Given the description of an element on the screen output the (x, y) to click on. 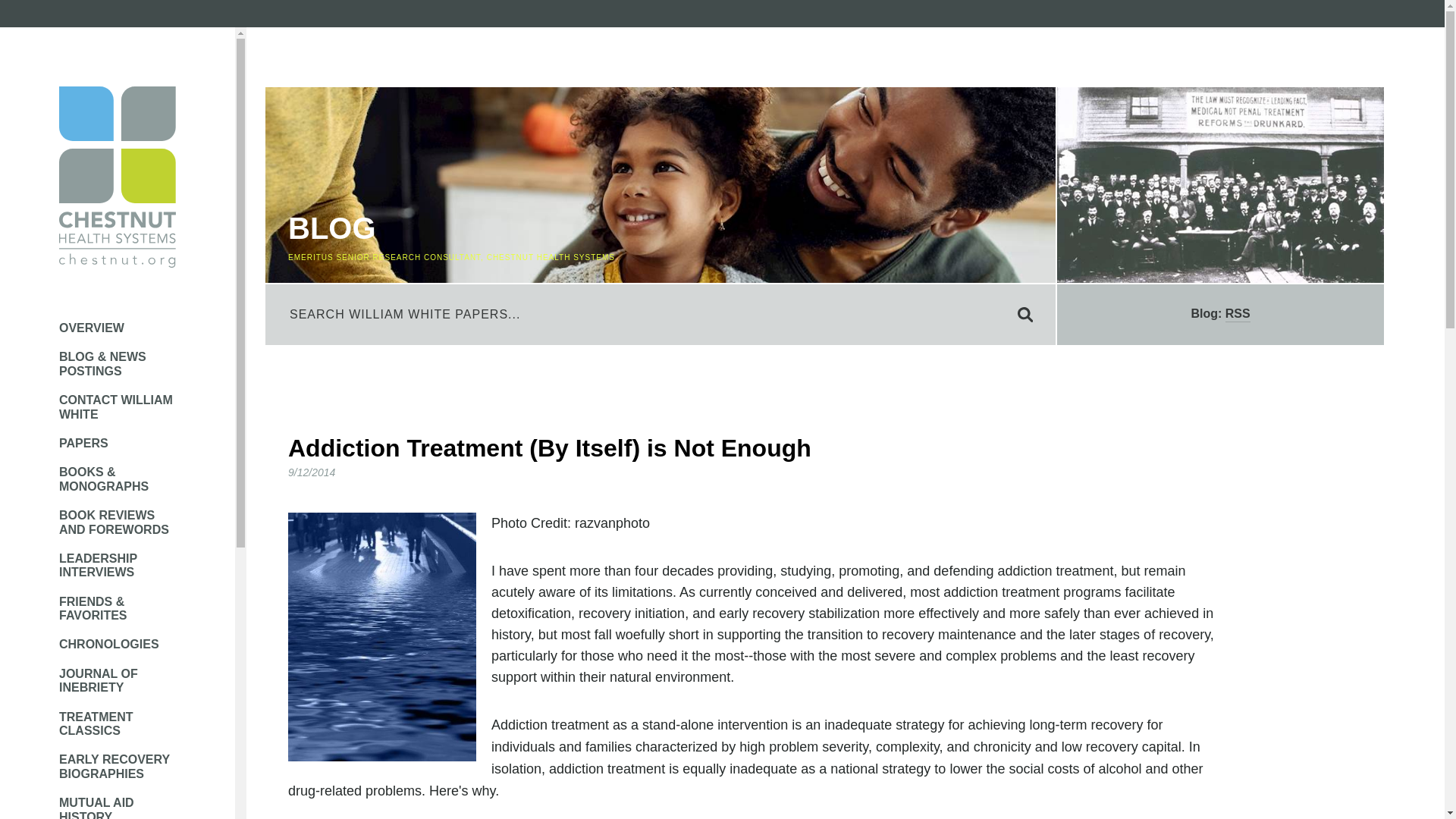
RSS (1237, 314)
View to our RSS Feed (1237, 314)
JOURNAL OF INEBRIETY (117, 681)
LEADERSHIP INTERVIEWS (117, 565)
BOOK REVIEWS AND FOREWORDS (117, 522)
EARLY RECOVERY BIOGRAPHIES (117, 766)
OVERVIEW (117, 327)
TREATMENT CLASSICS (117, 724)
PAPERS (117, 443)
CONTACT WILLIAM WHITE (117, 407)
MUTUAL AID HISTORY (117, 807)
CHRONOLOGIES (117, 644)
